Given the description of an element on the screen output the (x, y) to click on. 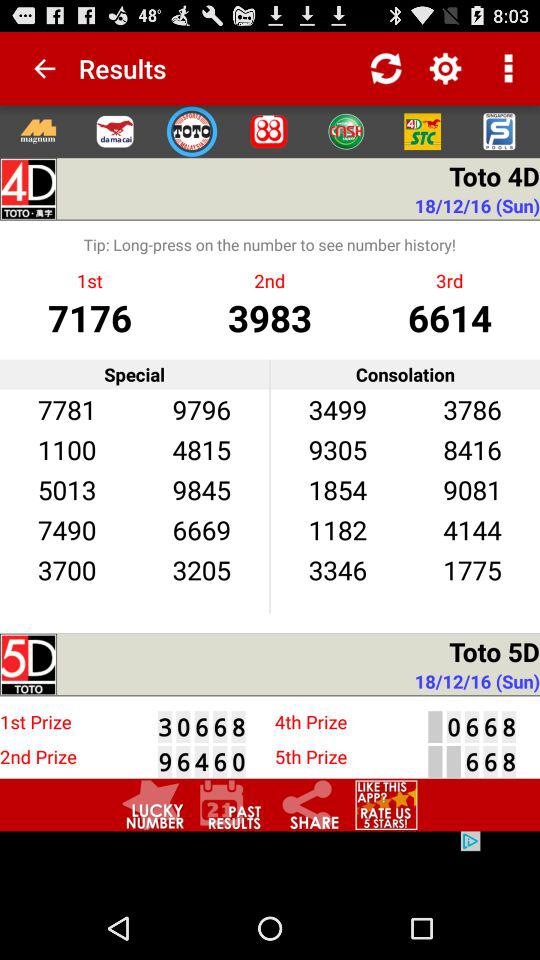
choose the icon below the 1st item (90, 316)
